Given the description of an element on the screen output the (x, y) to click on. 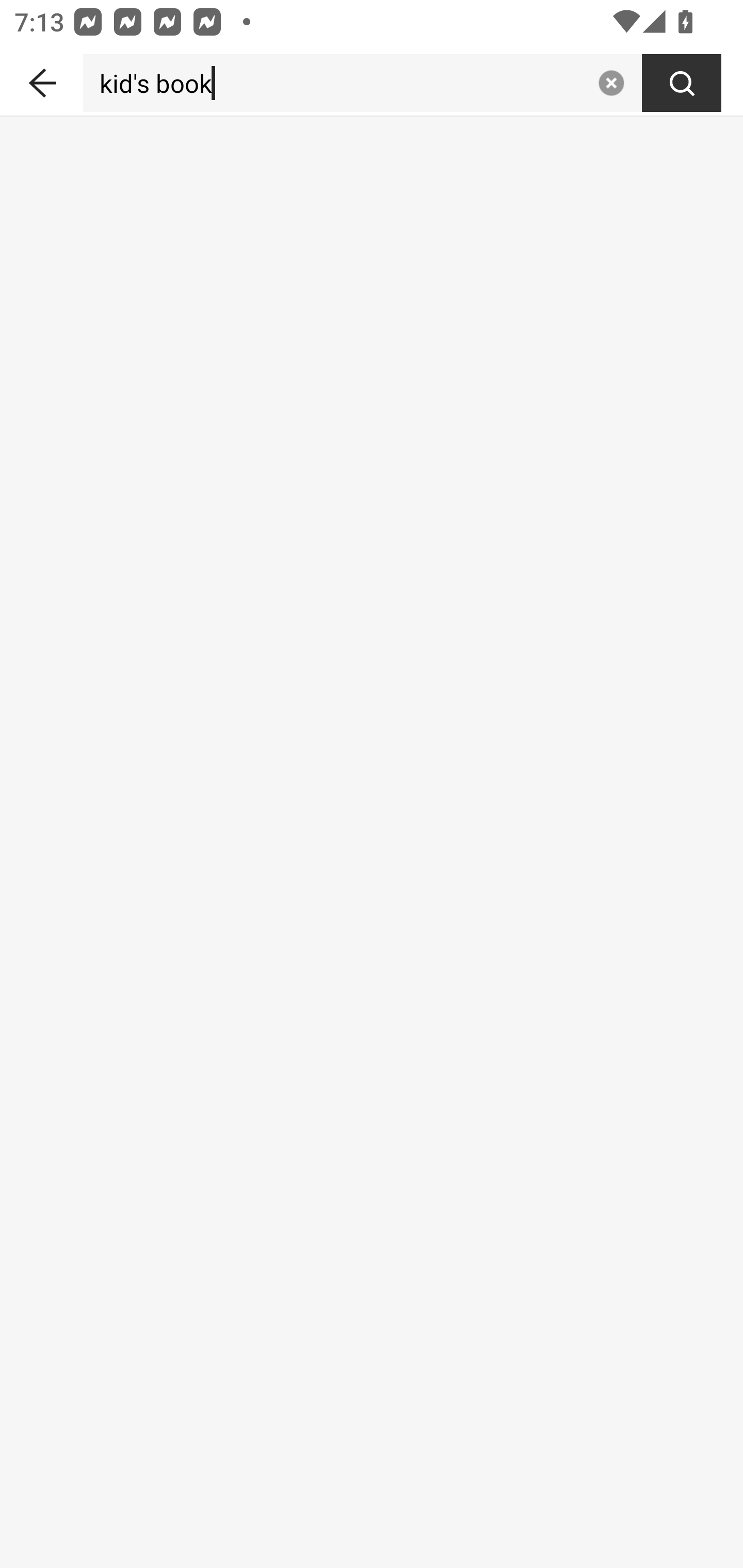
BACK (41, 79)
kid's book (336, 82)
Clear (610, 82)
